Given the description of an element on the screen output the (x, y) to click on. 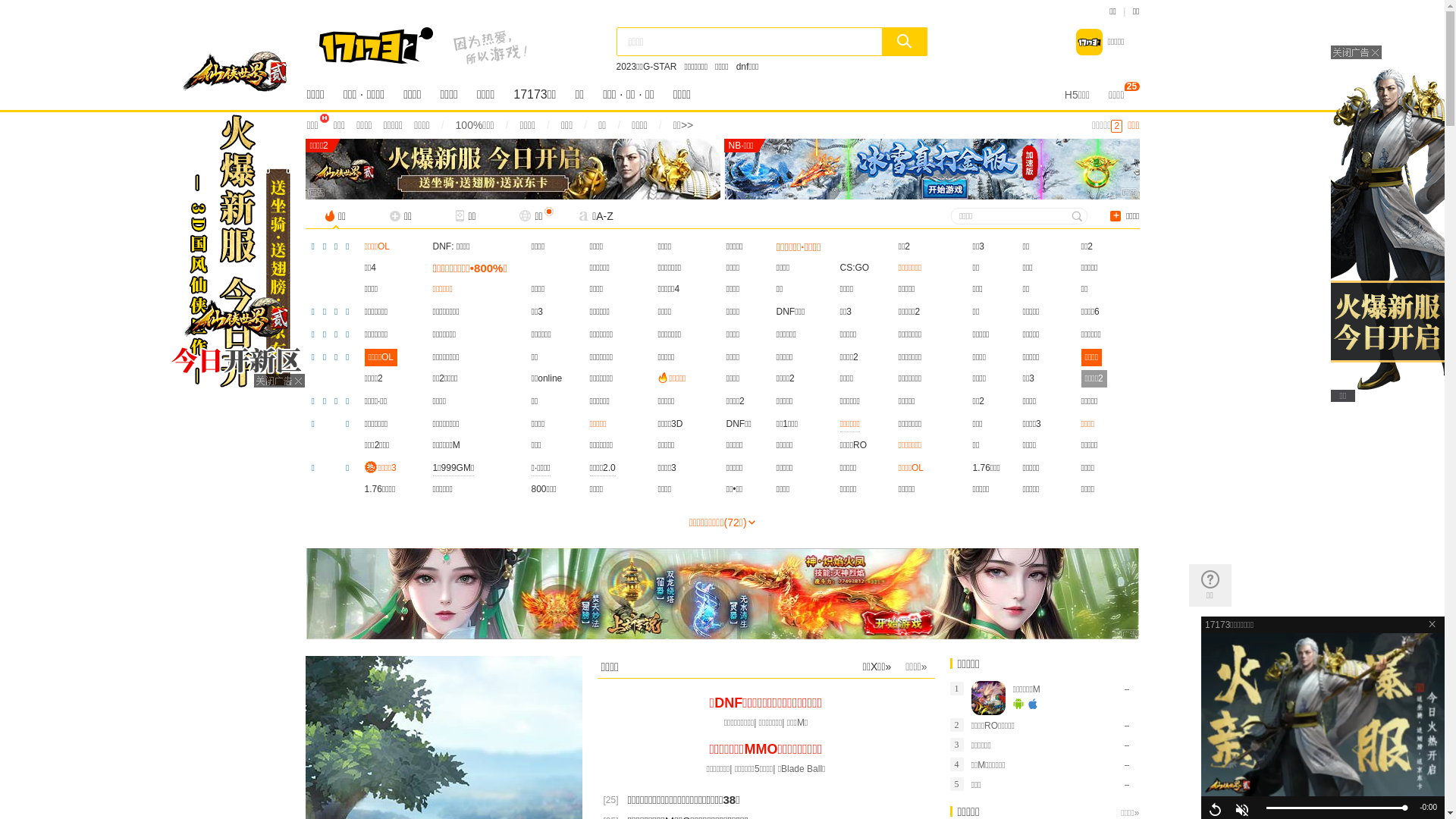
CS:GO Element type: text (854, 267)
